Given the description of an element on the screen output the (x, y) to click on. 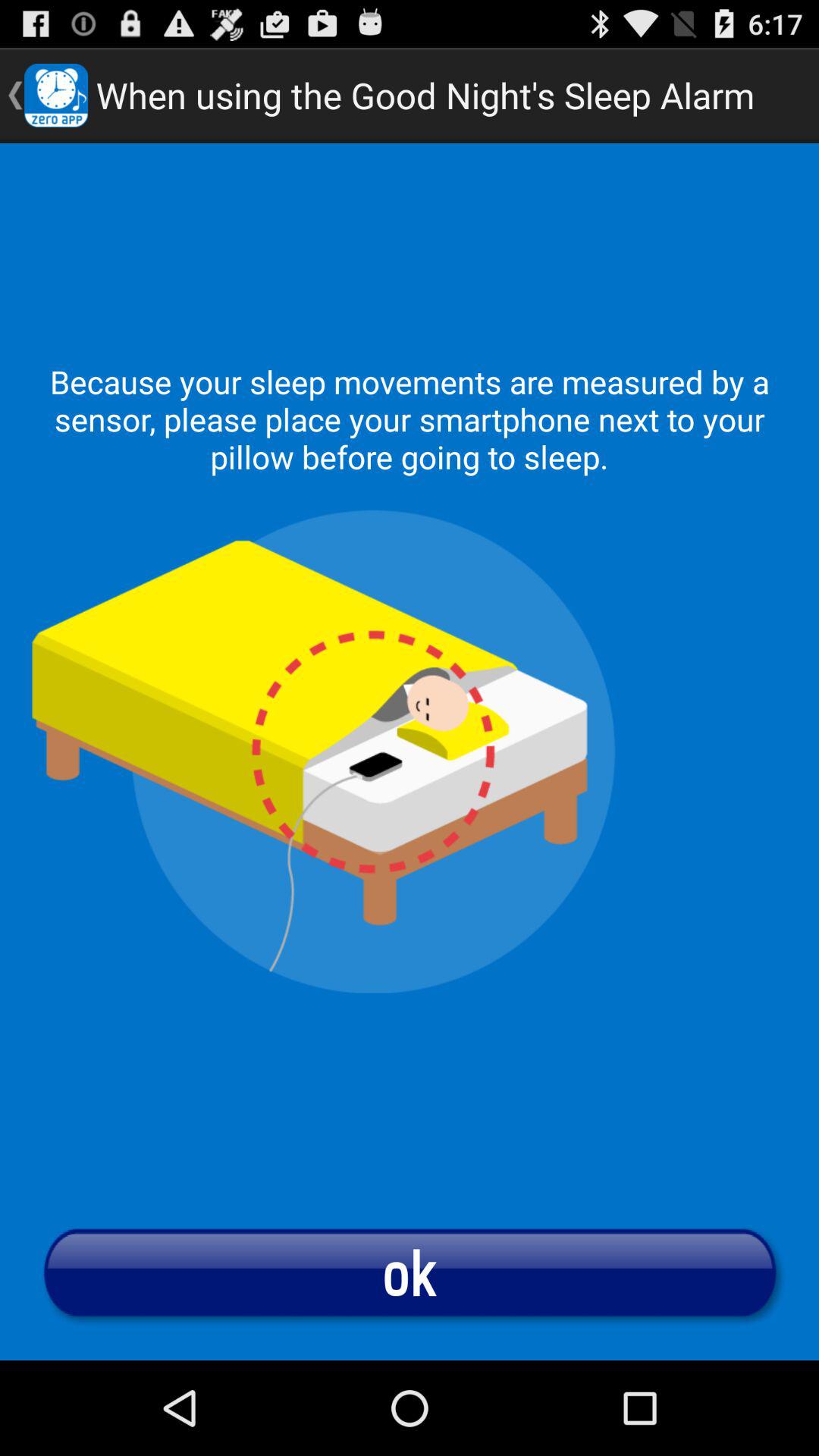
turn off ok icon (409, 1271)
